Given the description of an element on the screen output the (x, y) to click on. 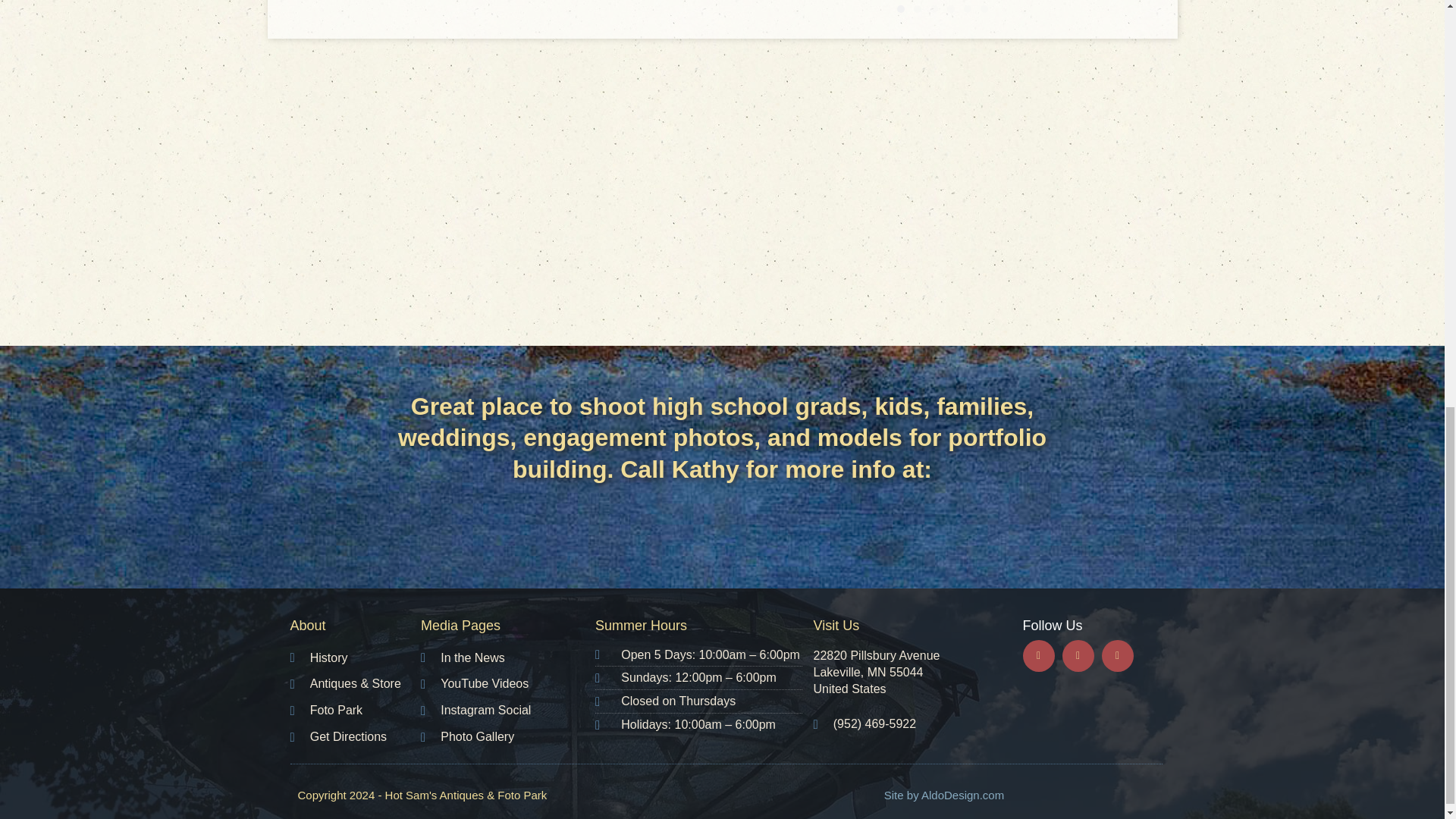
Photo Gallery (507, 737)
In the News (507, 658)
Foto Park (354, 710)
YouTube Videos (507, 684)
History (354, 658)
Get Directions (354, 737)
Instagram Social (507, 710)
Site by AldoDesign.com (943, 794)
